Given the description of an element on the screen output the (x, y) to click on. 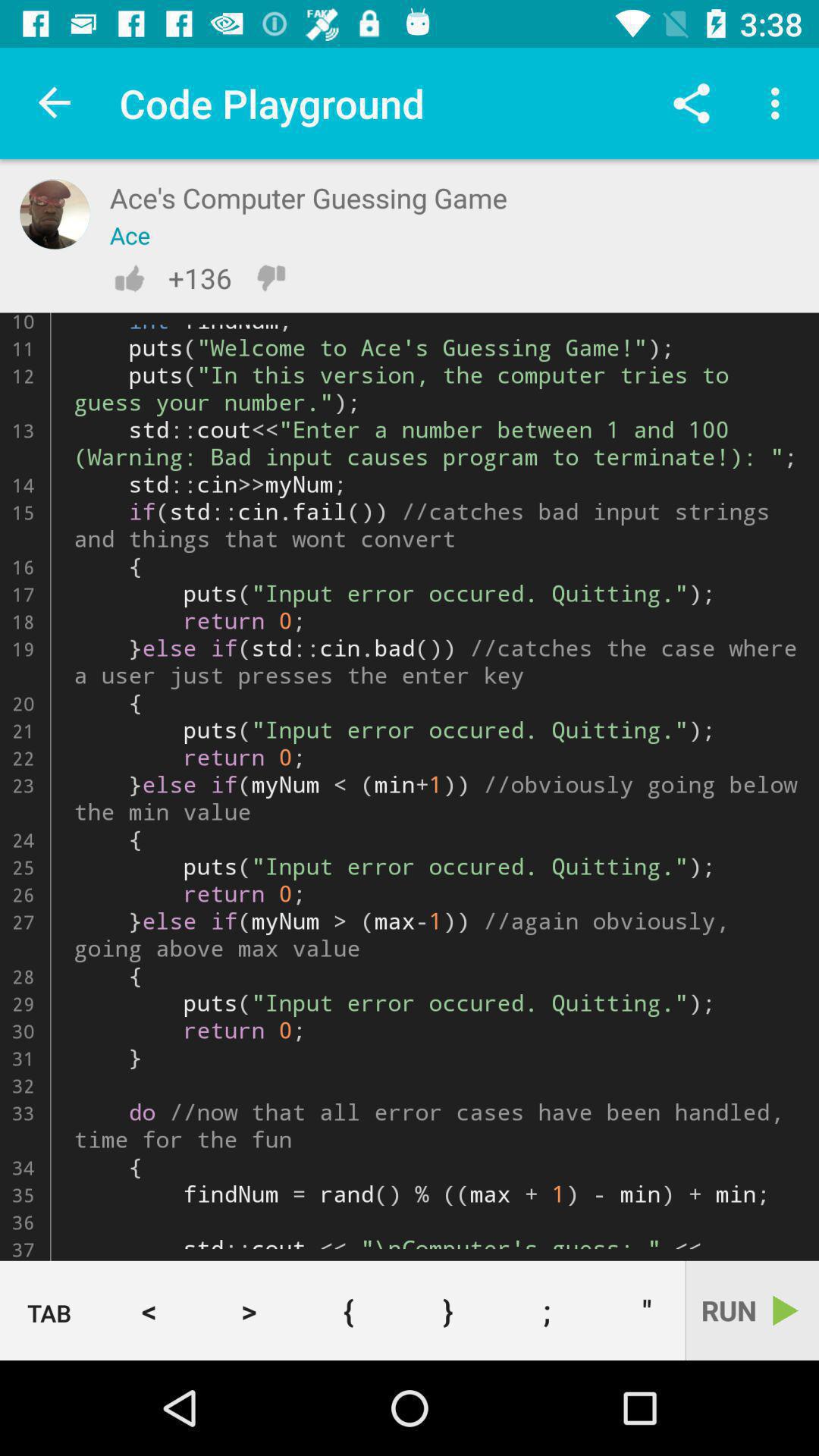
downvote (270, 277)
